Given the description of an element on the screen output the (x, y) to click on. 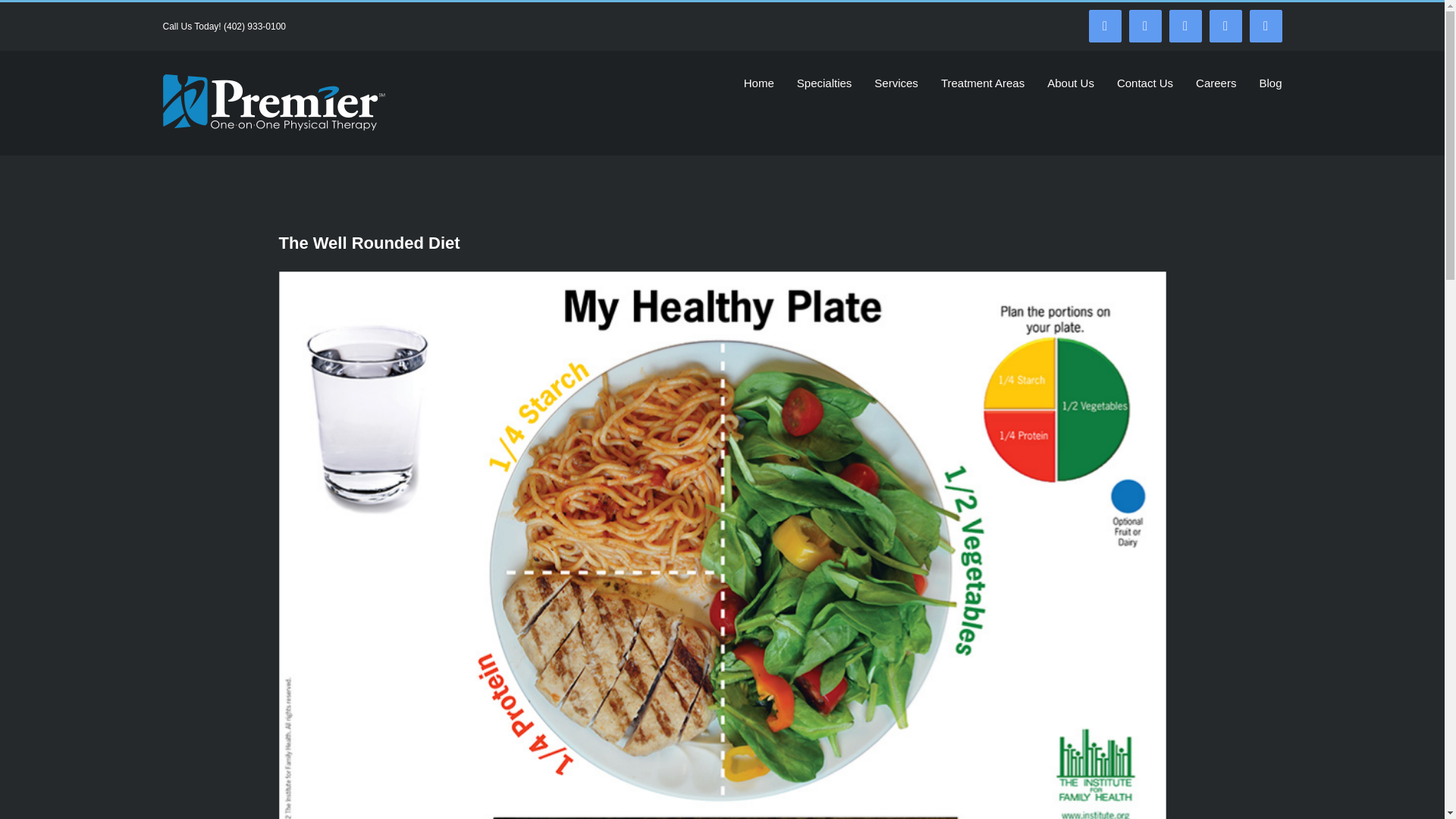
LinkedIn (1225, 25)
LinkedIn (1225, 25)
Instagram (1145, 25)
X (1185, 25)
Instagram (1145, 25)
Facebook (1105, 25)
Email (1265, 25)
Treatment Areas (982, 82)
Facebook (1105, 25)
X (1185, 25)
